Given the description of an element on the screen output the (x, y) to click on. 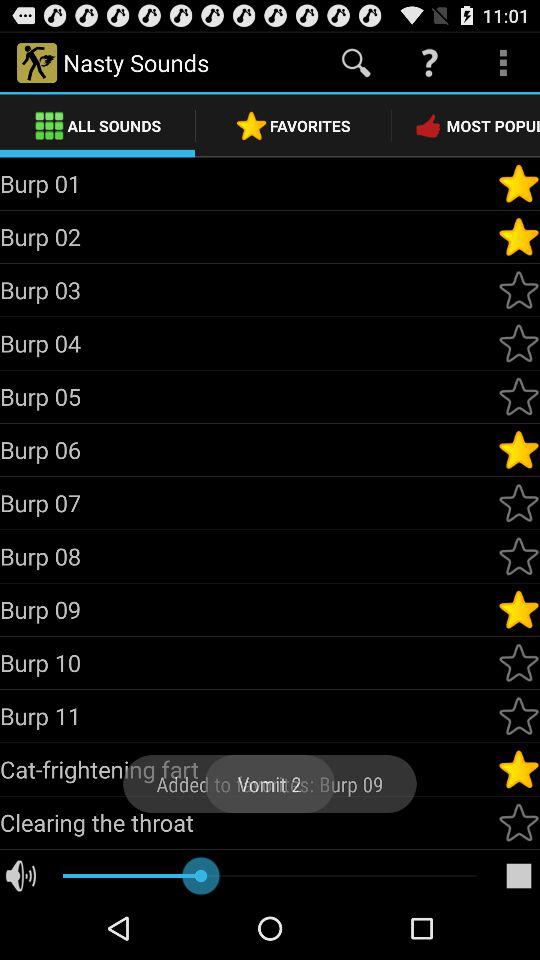
select as favorite (519, 503)
